Given the description of an element on the screen output the (x, y) to click on. 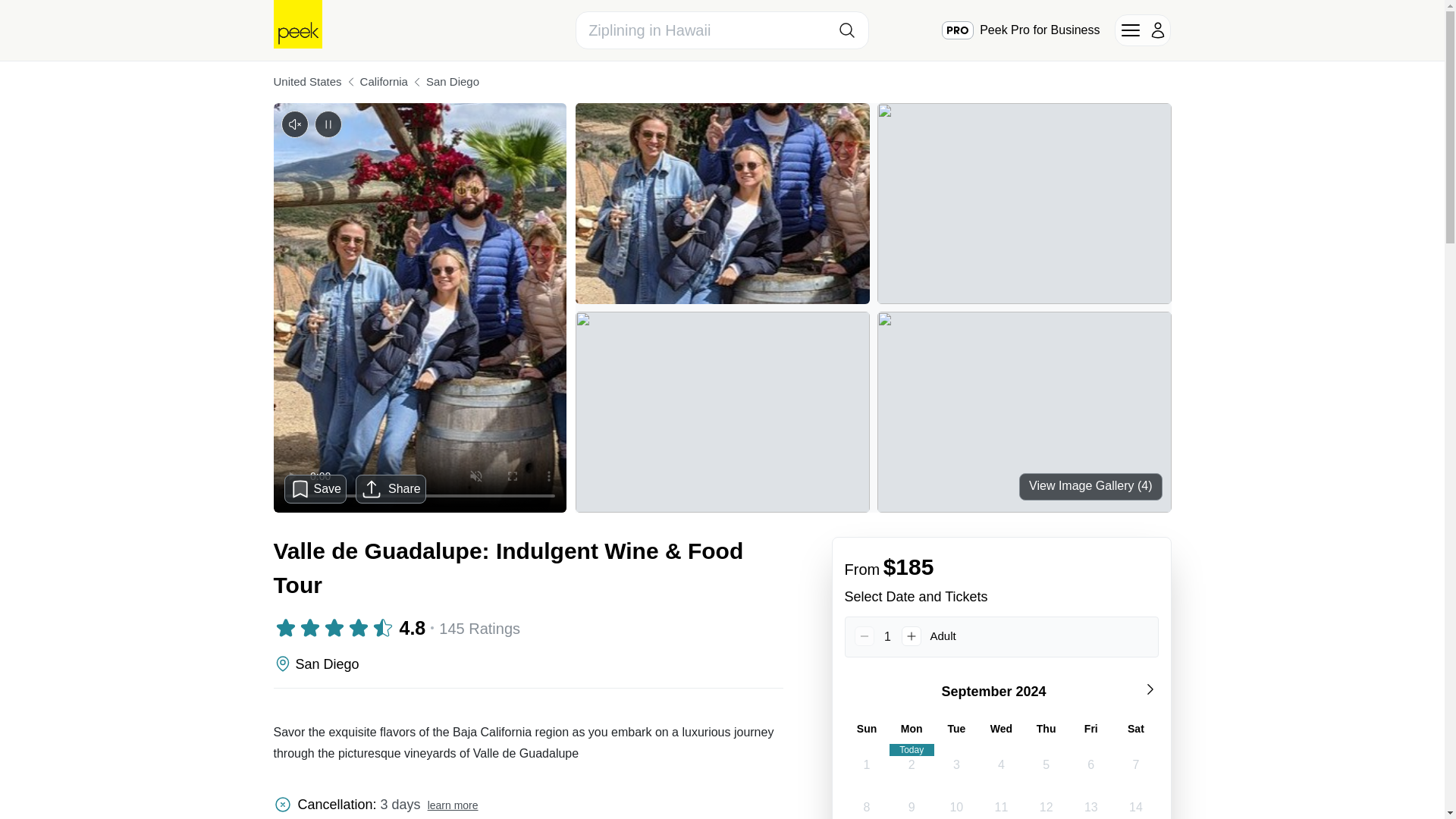
learn more (453, 805)
San Diego (452, 81)
Share (390, 489)
California (383, 81)
Save (314, 488)
United States (306, 81)
Peek Pro for Business (1020, 29)
